Given the description of an element on the screen output the (x, y) to click on. 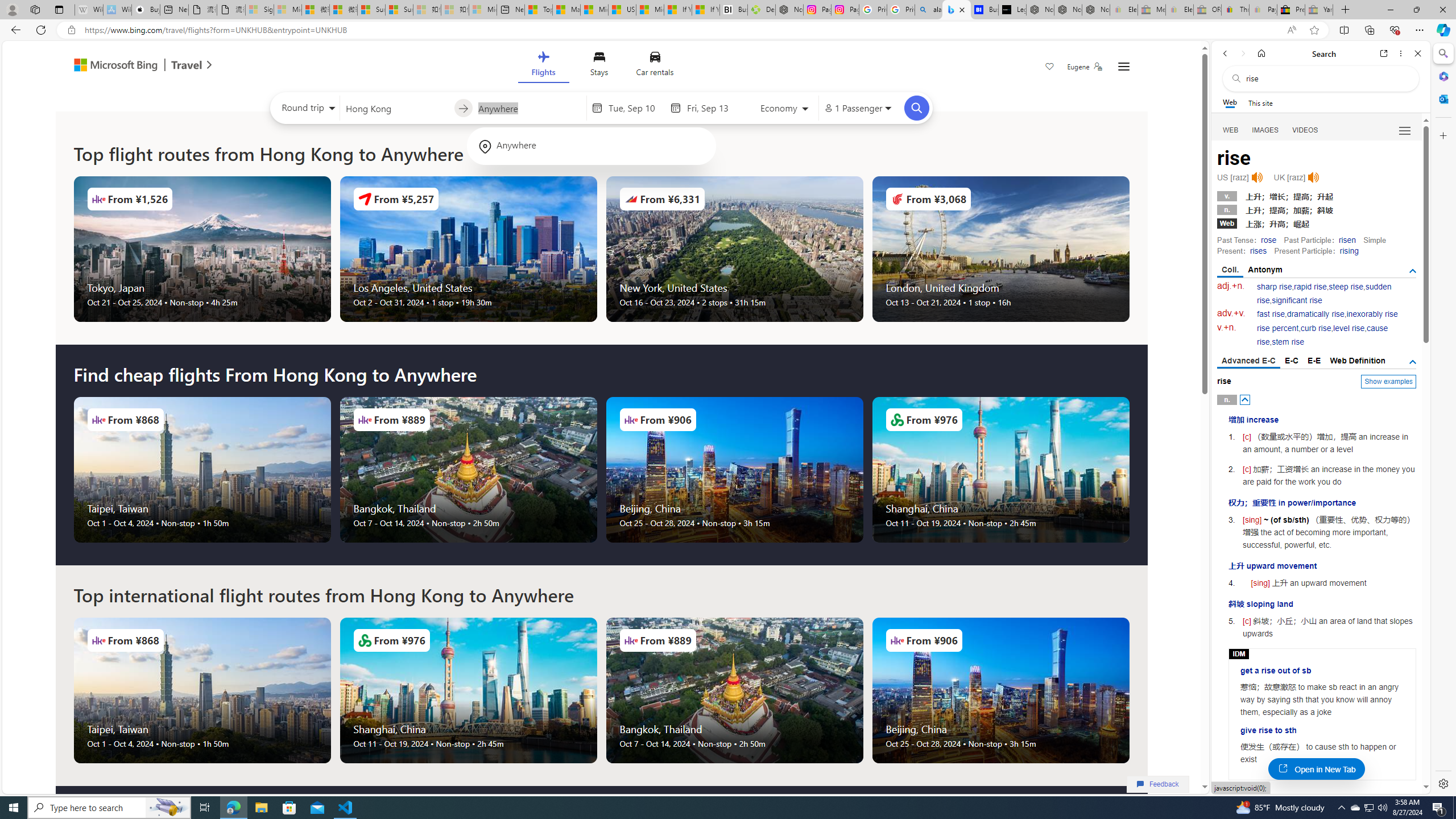
inexorably rise (1371, 313)
dramatically rise (1315, 313)
Stays (598, 65)
Outlook (1442, 98)
Coll. (1230, 270)
Class: autosuggest-container full-height no-y-padding (528, 107)
Open link in new tab (1383, 53)
